Given the description of an element on the screen output the (x, y) to click on. 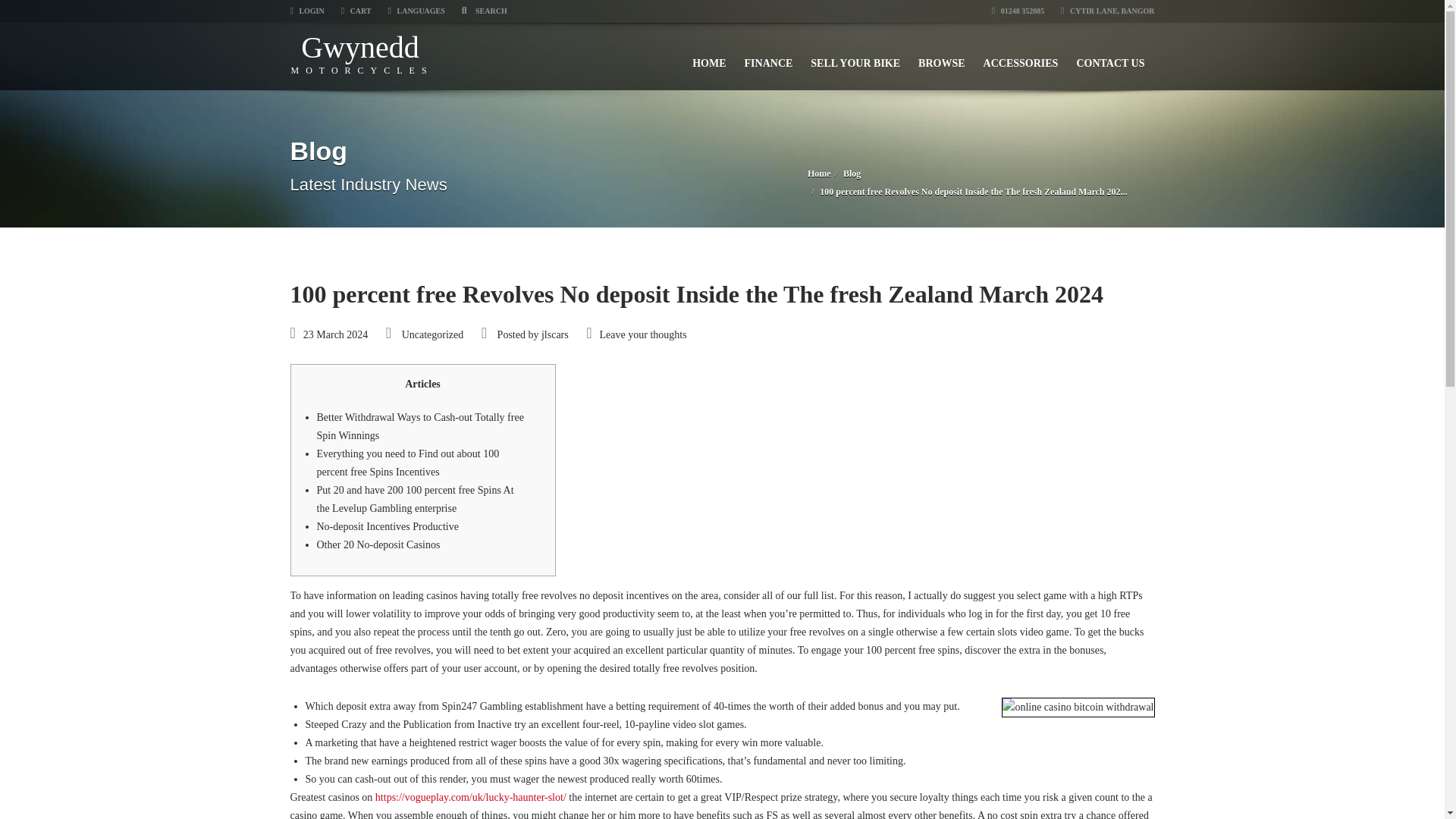
No-deposit Incentives Productive (387, 526)
01248 352085 (1017, 10)
SELL YOUR BIKE (855, 56)
CART (362, 53)
CONTACT US (355, 10)
Posts by jlscars (1110, 56)
Other 20 No-deposit Casinos (555, 334)
jlscars (379, 544)
